Given the description of an element on the screen output the (x, y) to click on. 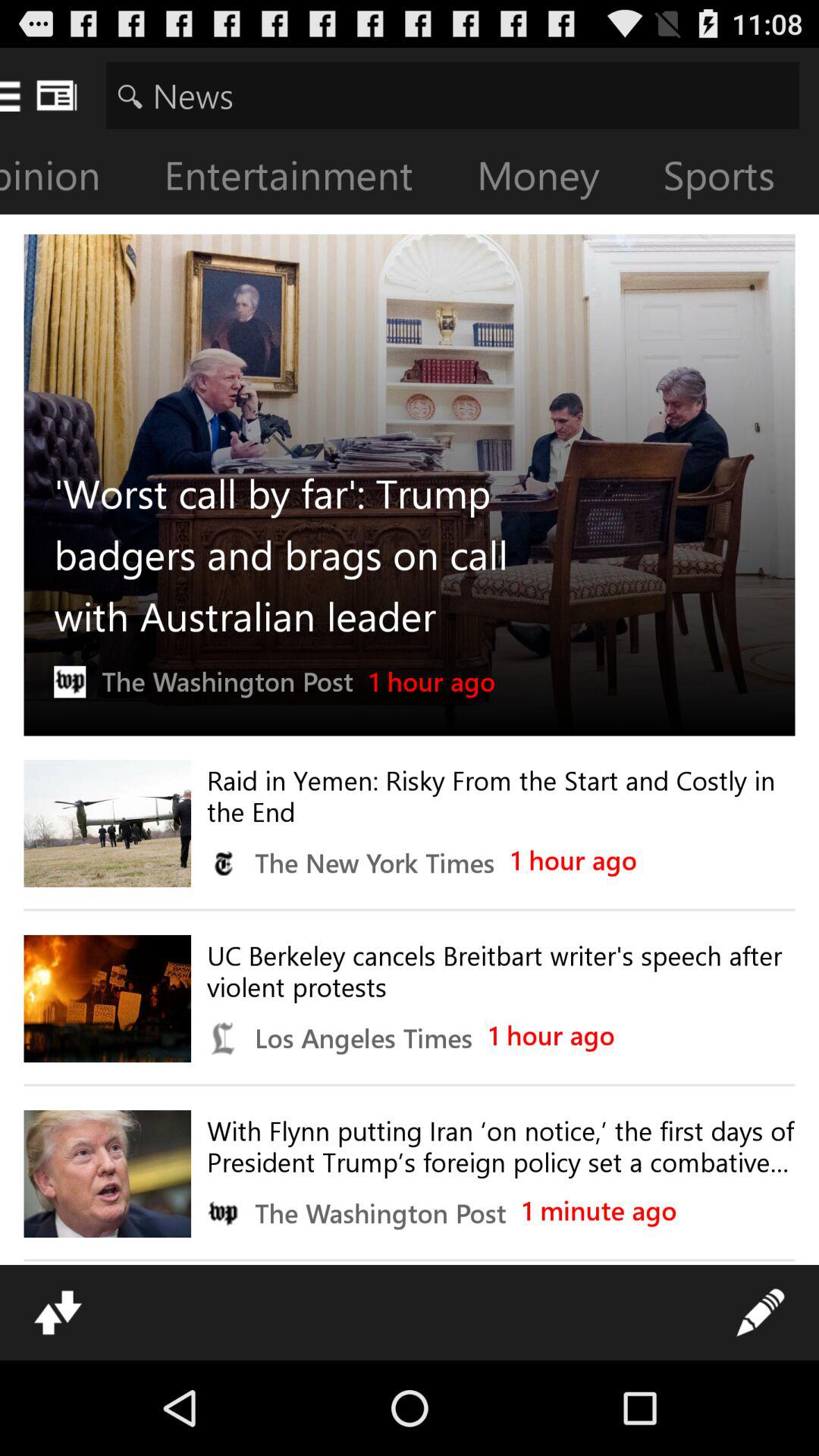
turn off the item next to money icon (731, 178)
